Given the description of an element on the screen output the (x, y) to click on. 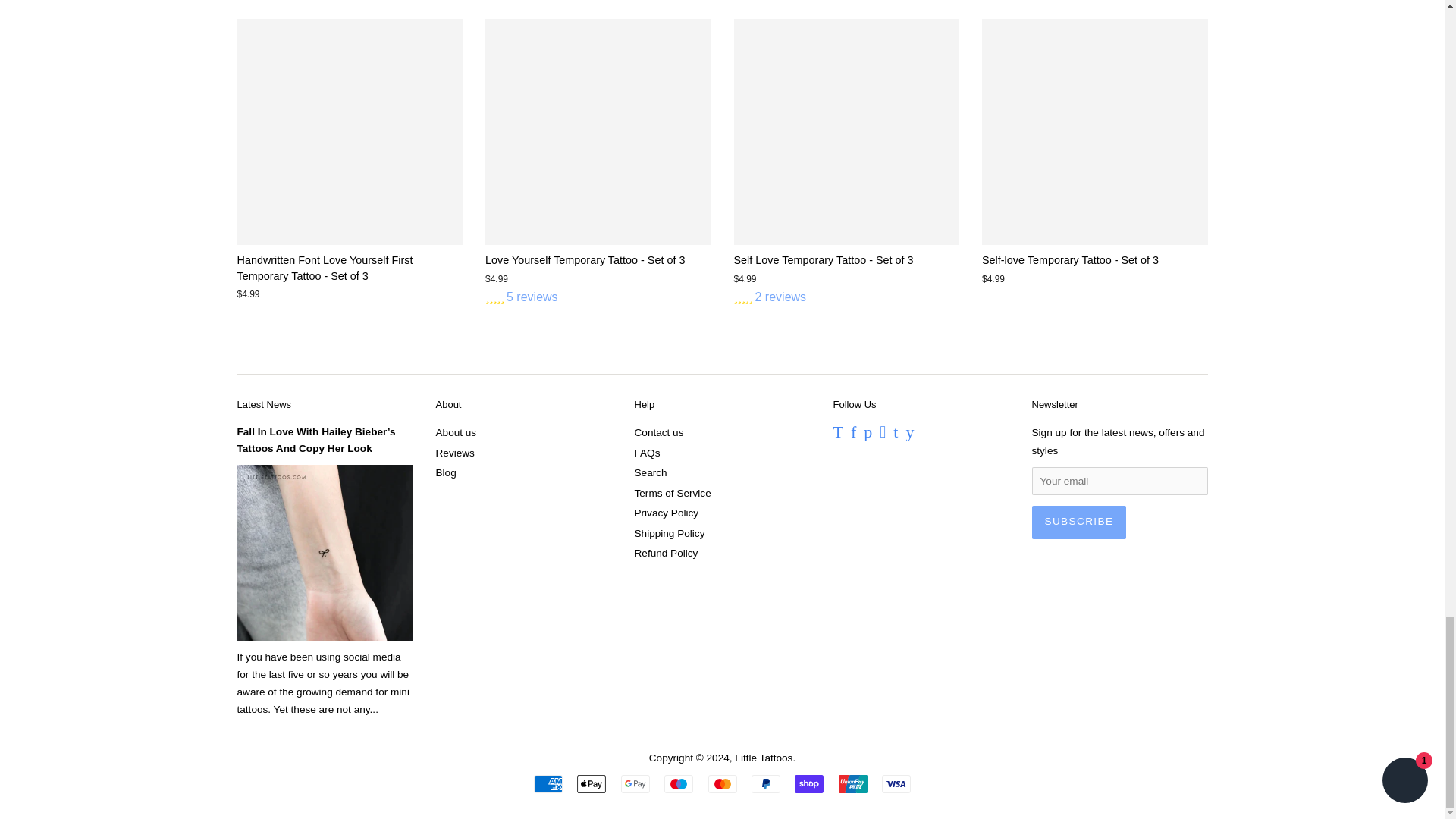
Mastercard (721, 782)
Google Pay (635, 782)
Apple Pay (590, 782)
Subscribe (1077, 522)
American Express (548, 782)
Visa (896, 782)
Maestro (678, 782)
Shop Pay (809, 782)
PayPal (765, 782)
Union Pay (852, 782)
